Given the description of an element on the screen output the (x, y) to click on. 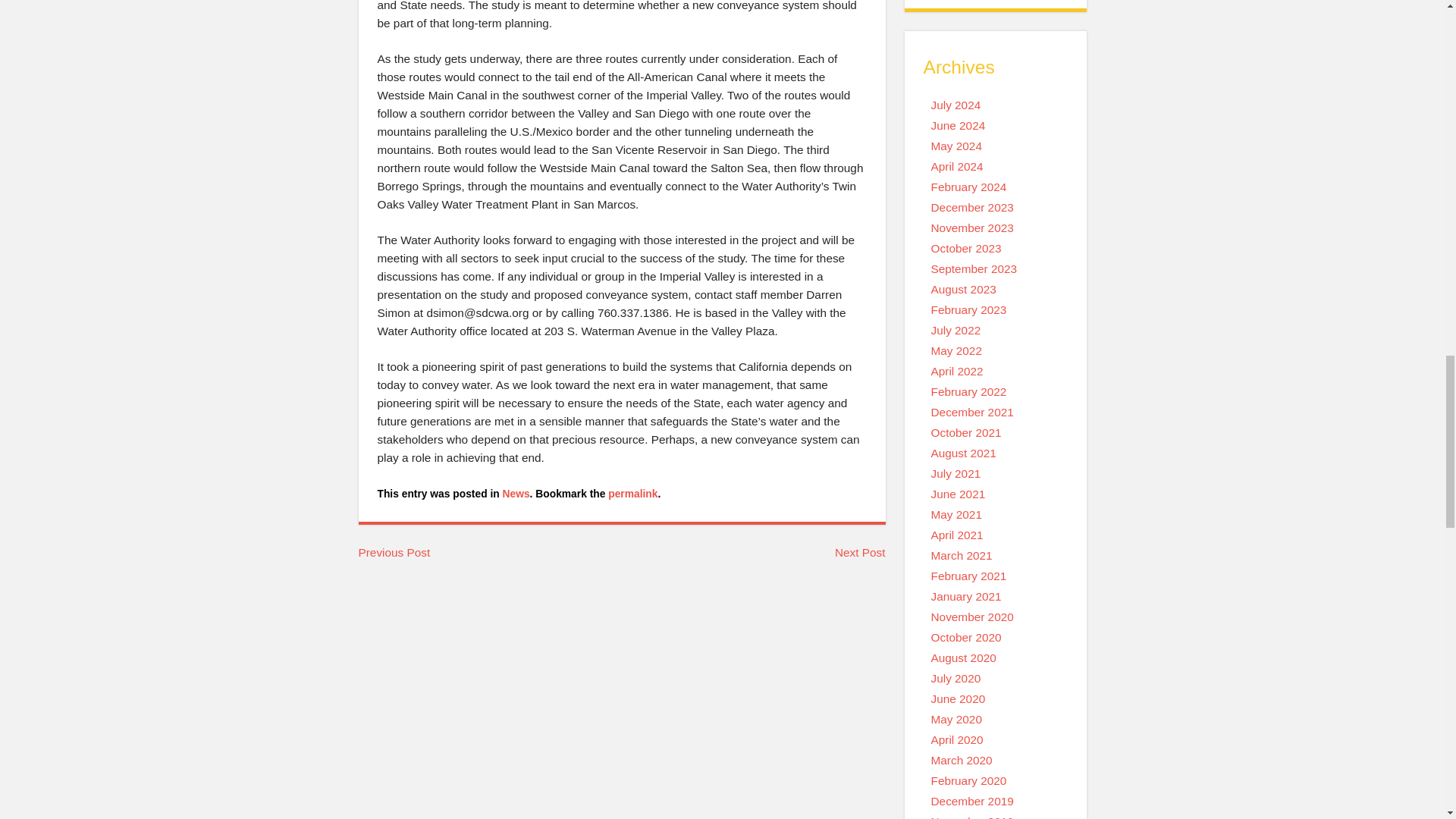
November 2023 (972, 227)
December 2021 (972, 411)
May 2022 (956, 350)
April 2021 (957, 534)
December 2023 (972, 206)
March 2021 (961, 554)
July 2021 (956, 472)
June 2024 (958, 124)
October 2021 (966, 431)
